Given the description of an element on the screen output the (x, y) to click on. 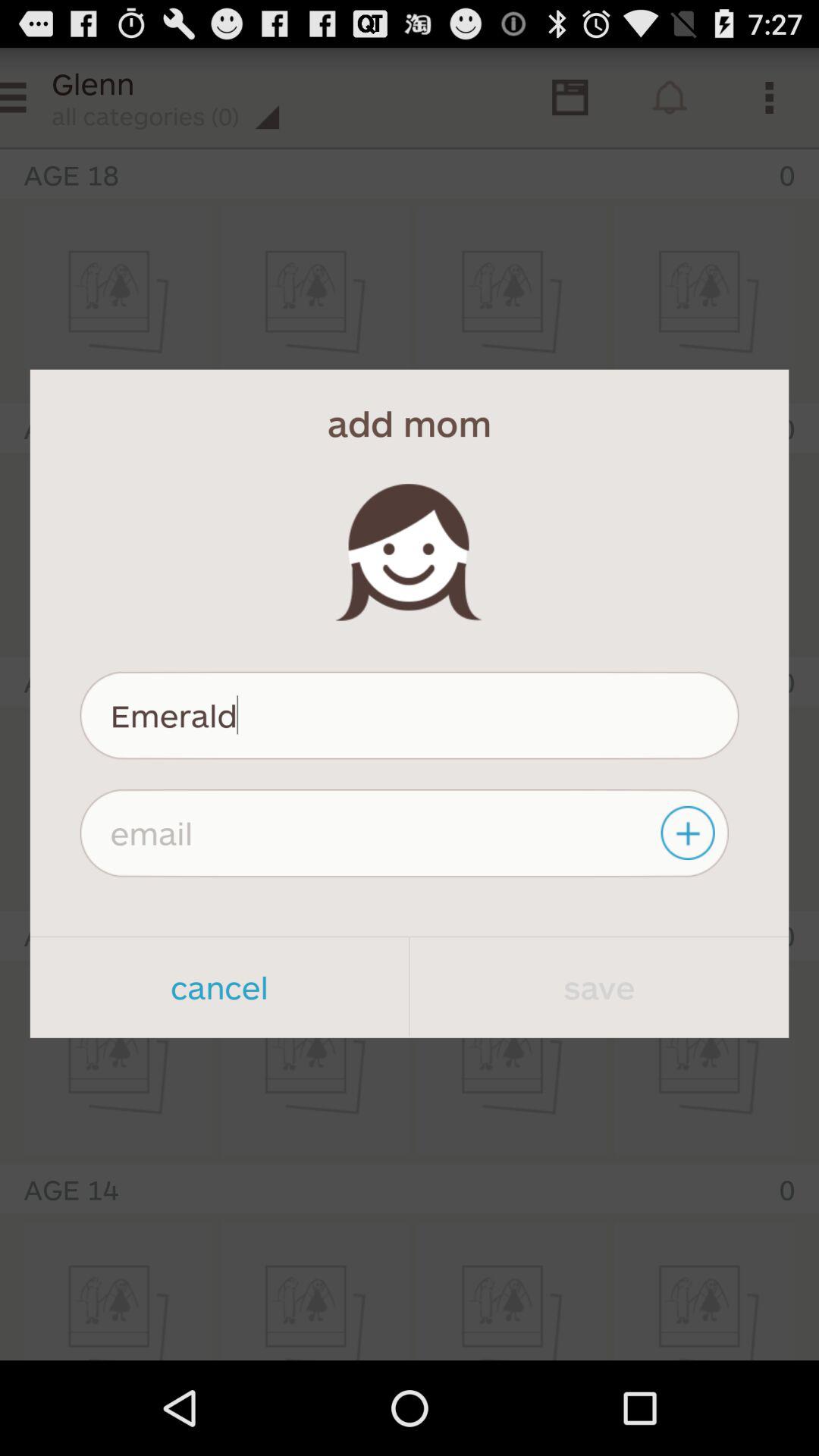
flip until the cancel app (219, 986)
